Given the description of an element on the screen output the (x, y) to click on. 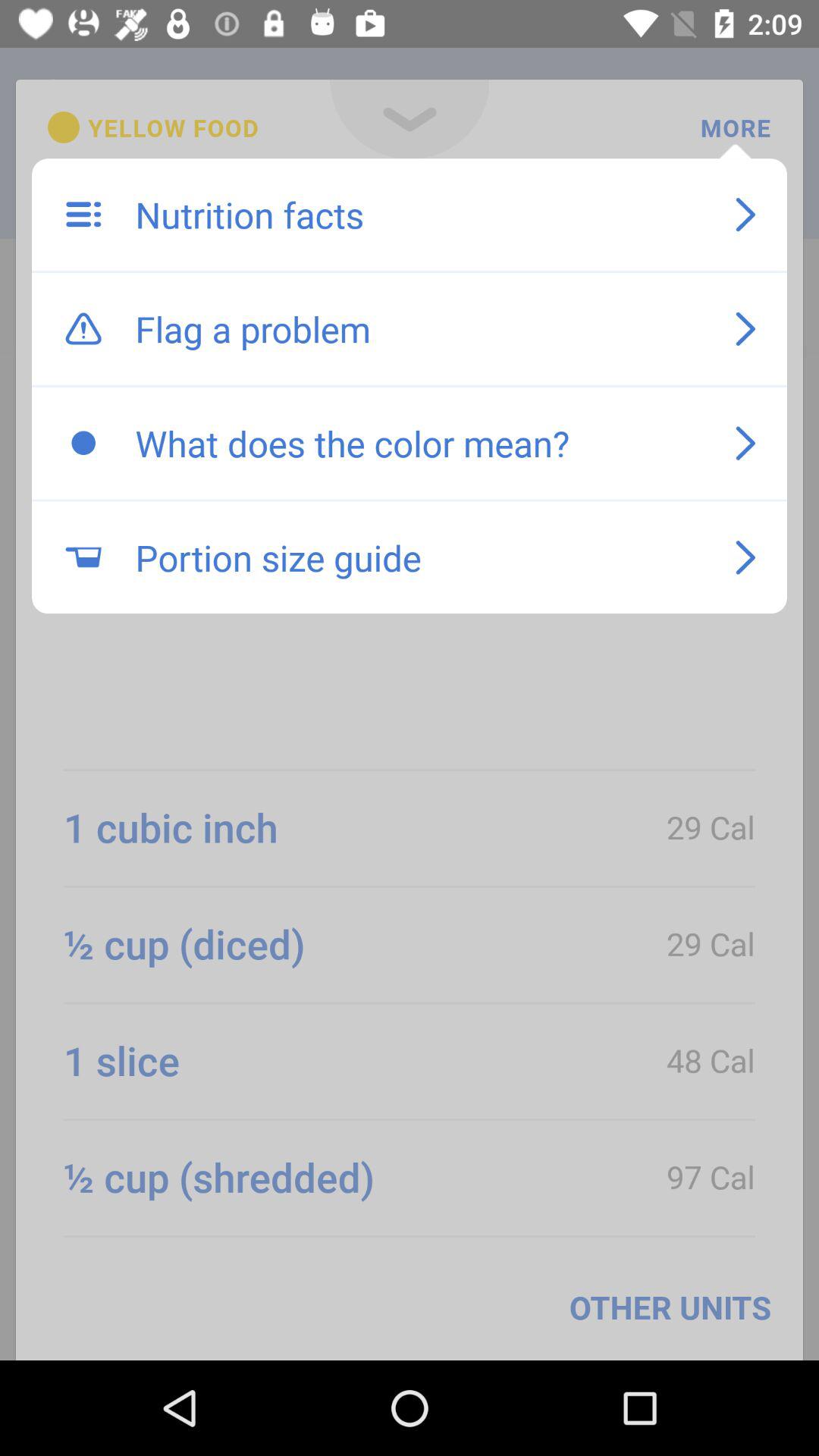
turn on icon above the portion size guide (419, 443)
